Given the description of an element on the screen output the (x, y) to click on. 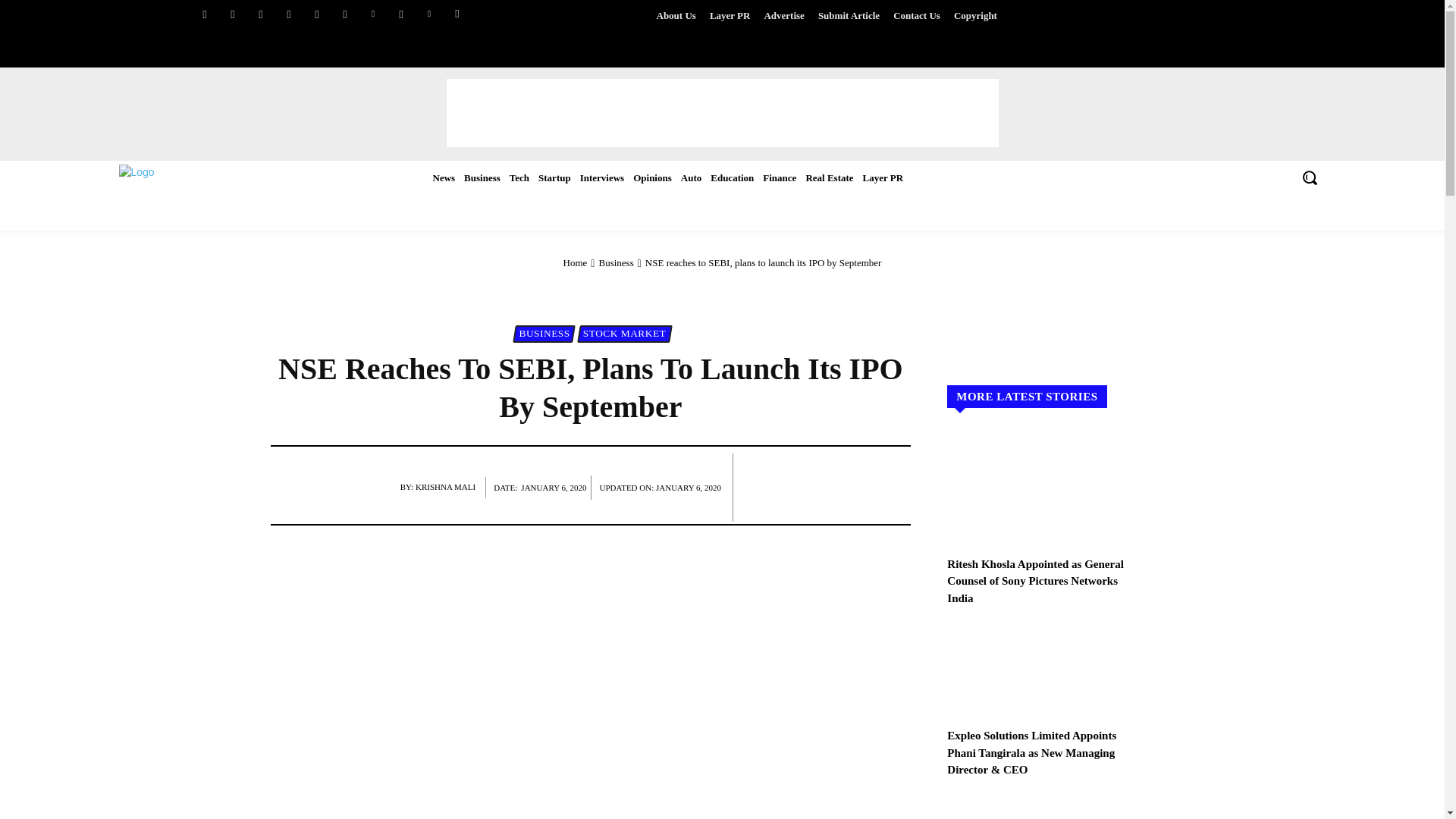
Youtube (260, 14)
google publisher (456, 14)
Linkedin (372, 14)
Patreon (289, 14)
Instagram (344, 14)
Tiktok (401, 14)
Pinterest (429, 14)
Facebook (203, 14)
Twitter (232, 14)
Dailymotion (315, 14)
